Given the description of an element on the screen output the (x, y) to click on. 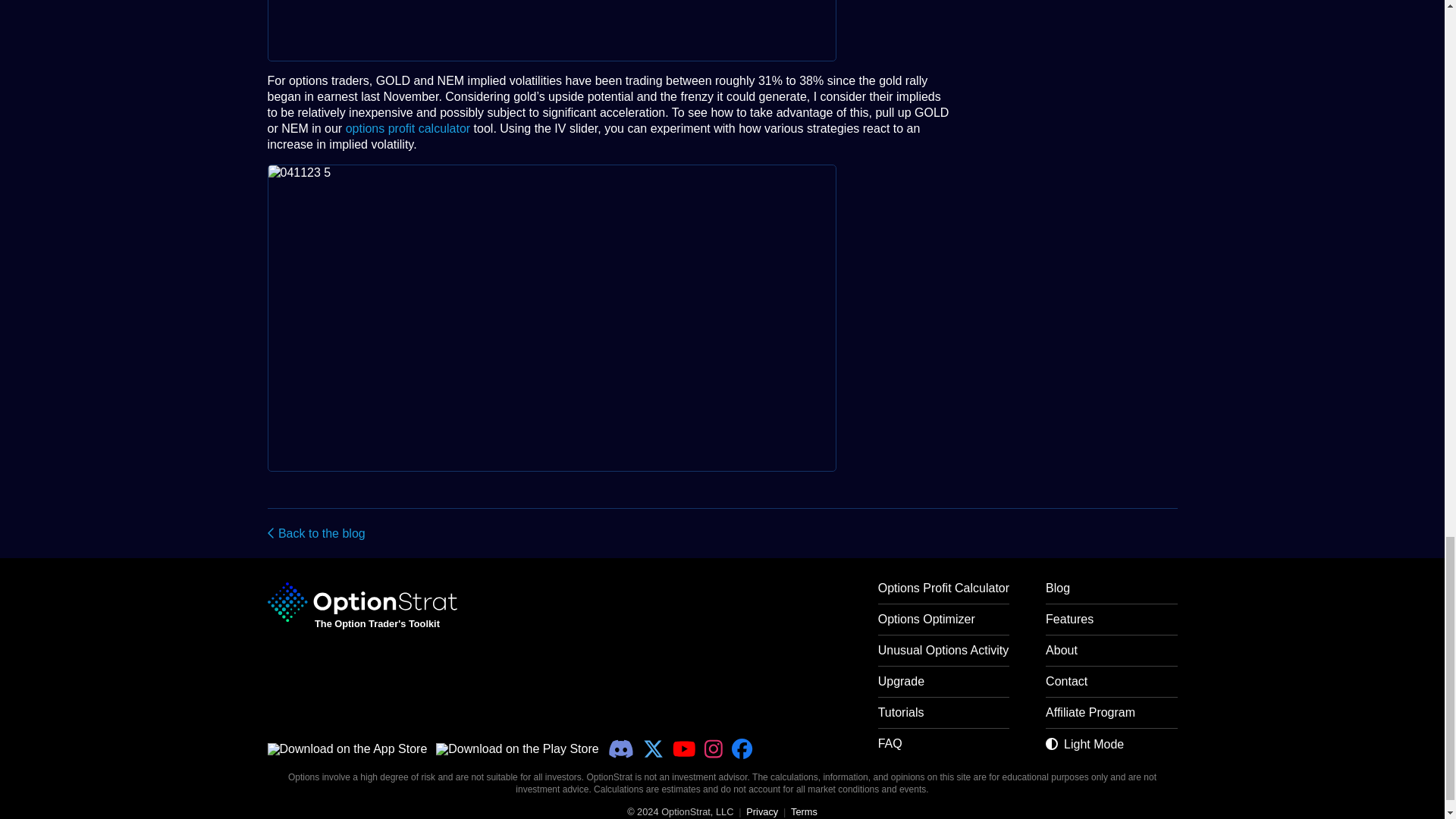
Join our Discord chat (620, 749)
View our YouTube channel (683, 749)
Follow us on Facebook (742, 749)
Frequently Asked Questions (943, 748)
Follow us on X (653, 749)
